Given the description of an element on the screen output the (x, y) to click on. 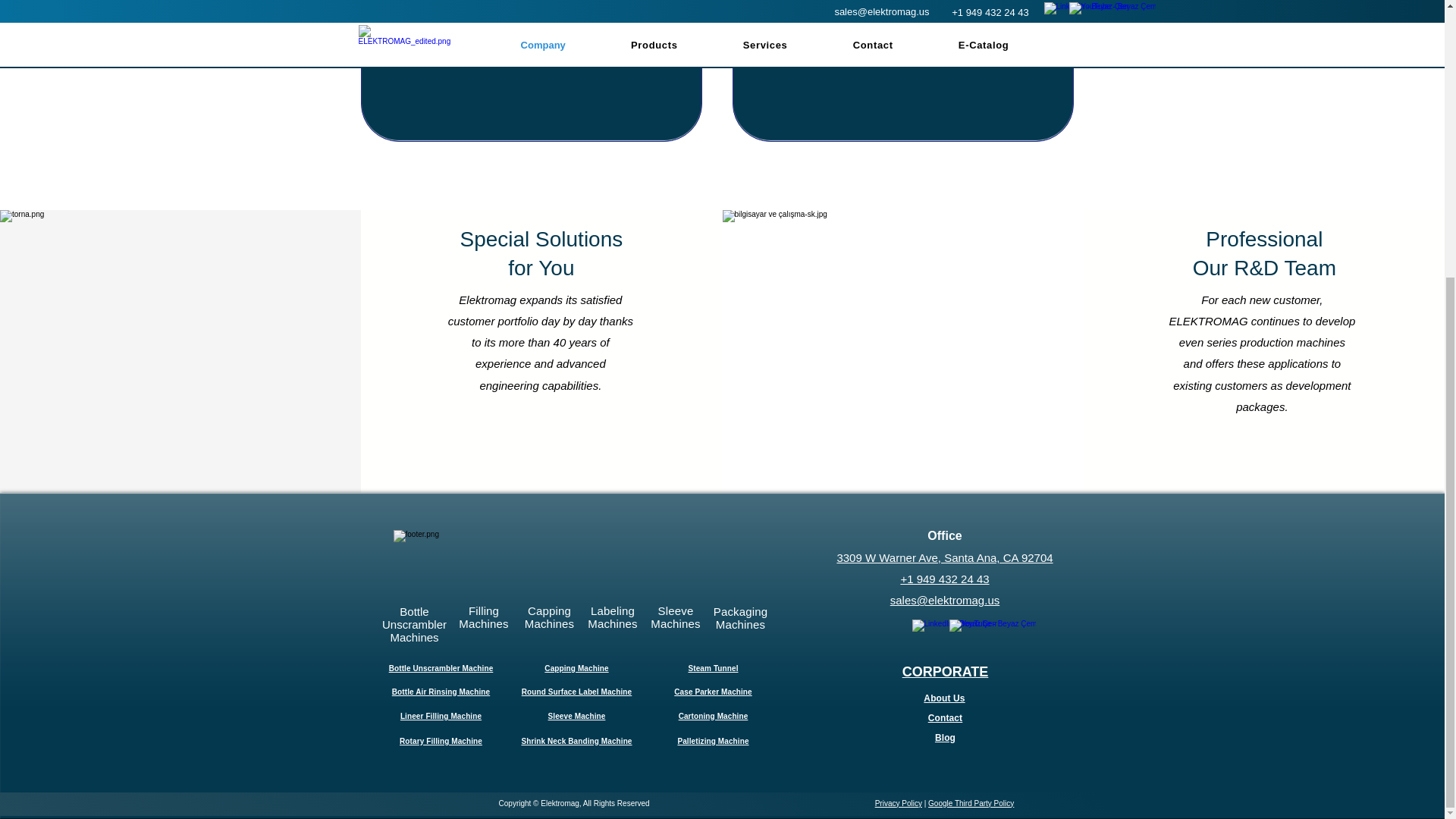
Steam Tunnel (712, 668)
Sleeve Machine (576, 715)
Sleeve Machines (675, 616)
Lineer Filling Machine (413, 624)
Capping Machines (440, 715)
Shrink Neck Banding Machine (548, 616)
Filling Machines (576, 741)
Bottle Unscrambler Machine (483, 616)
Round Surface Label Machine (440, 668)
Cartoning Machine (576, 691)
Rotary Filling Machine (713, 715)
Labeling Machines (439, 741)
Palletizing Machine (612, 616)
3309 W Warner Ave, Santa Ana, CA 92704 (712, 741)
